Given the description of an element on the screen output the (x, y) to click on. 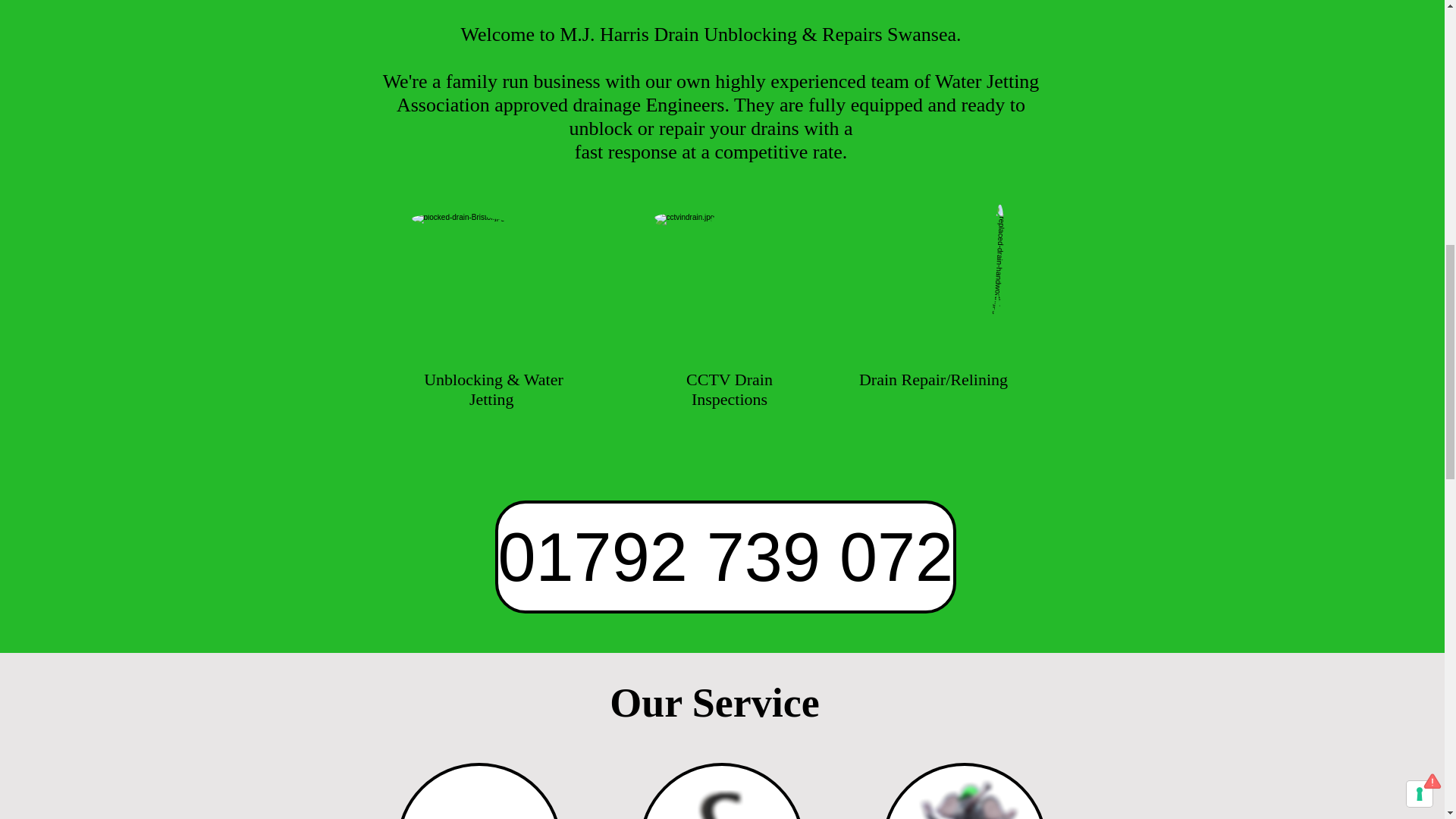
01792 739 072 (725, 556)
